Given the description of an element on the screen output the (x, y) to click on. 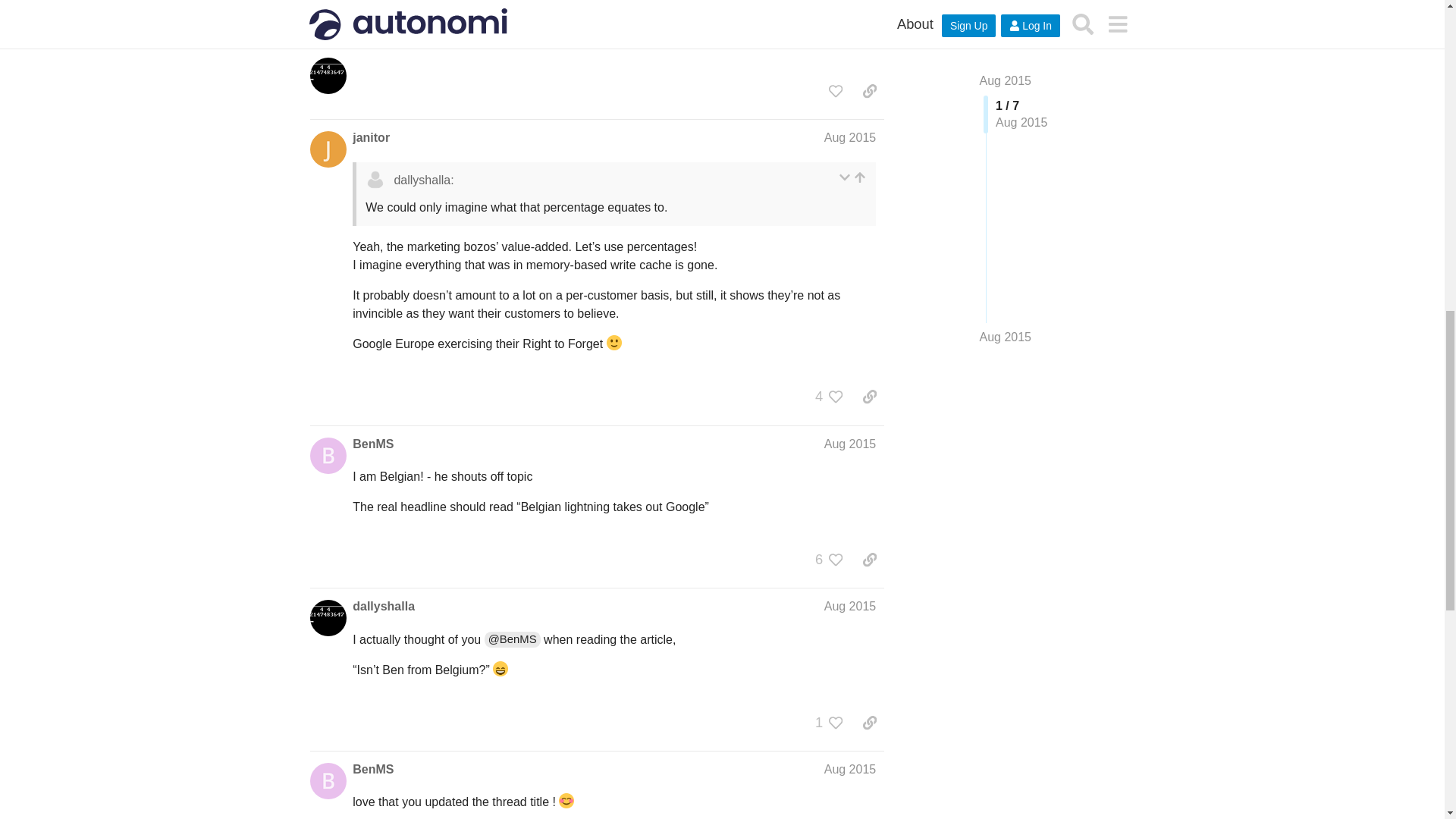
Aug 2015 (850, 6)
dallyshalla (383, 7)
